Given the description of an element on the screen output the (x, y) to click on. 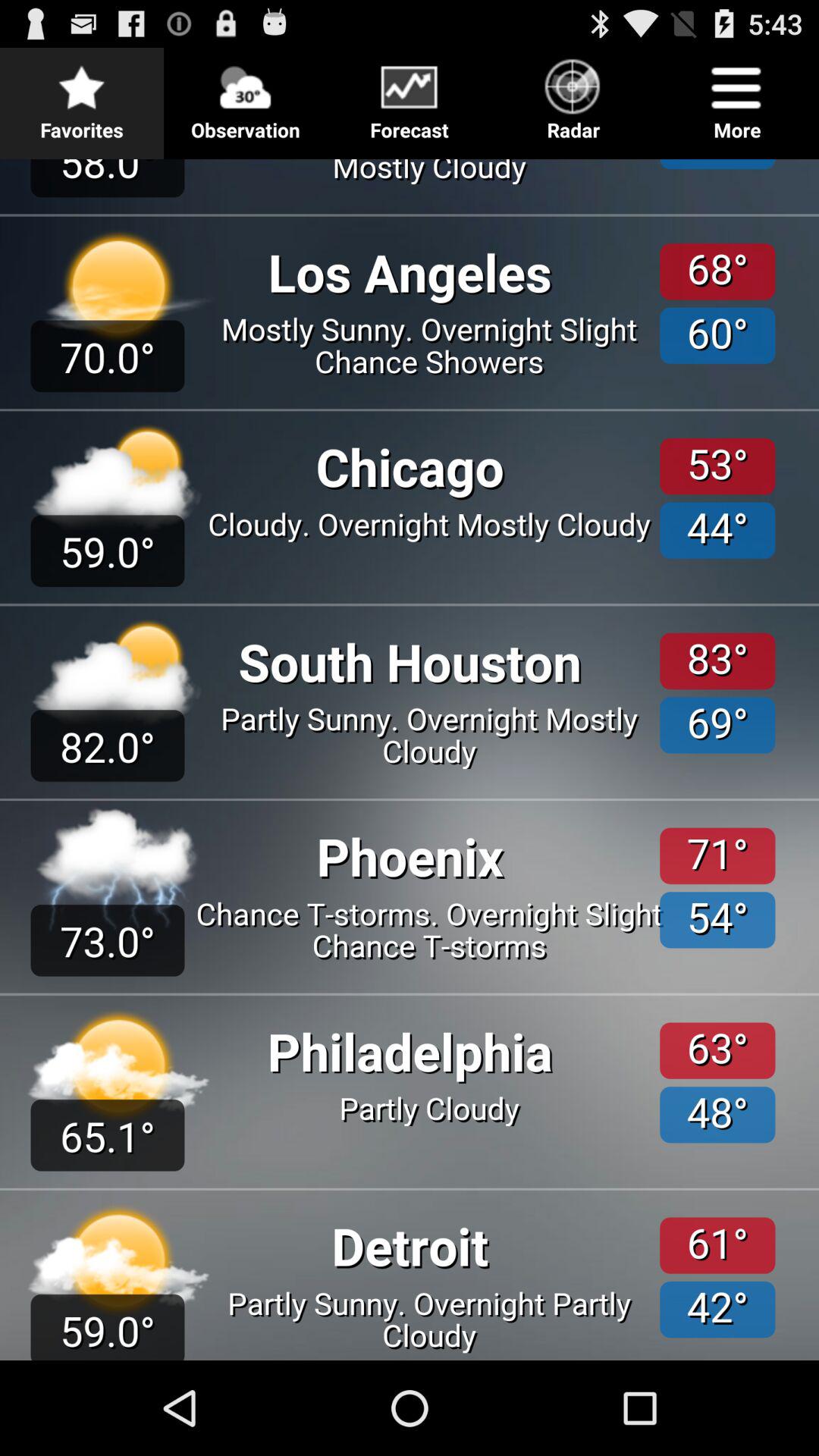
turn off the item next to radar button (737, 95)
